Given the description of an element on the screen output the (x, y) to click on. 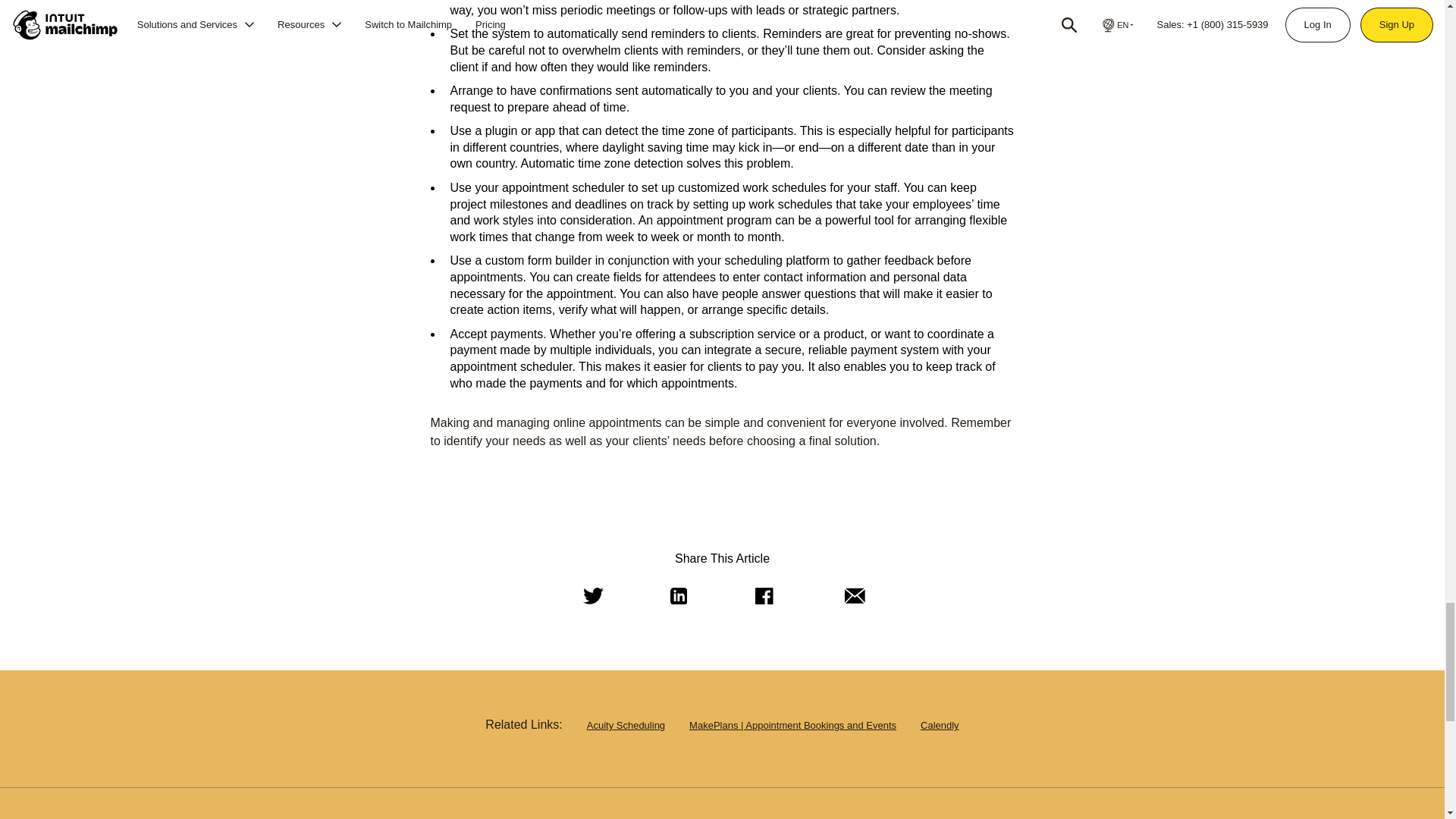
Email this article (850, 596)
Share this article on Twitter (590, 596)
Share this article on Facebook (762, 596)
Acuity Scheduling (625, 725)
Calendly (939, 725)
